Given the description of an element on the screen output the (x, y) to click on. 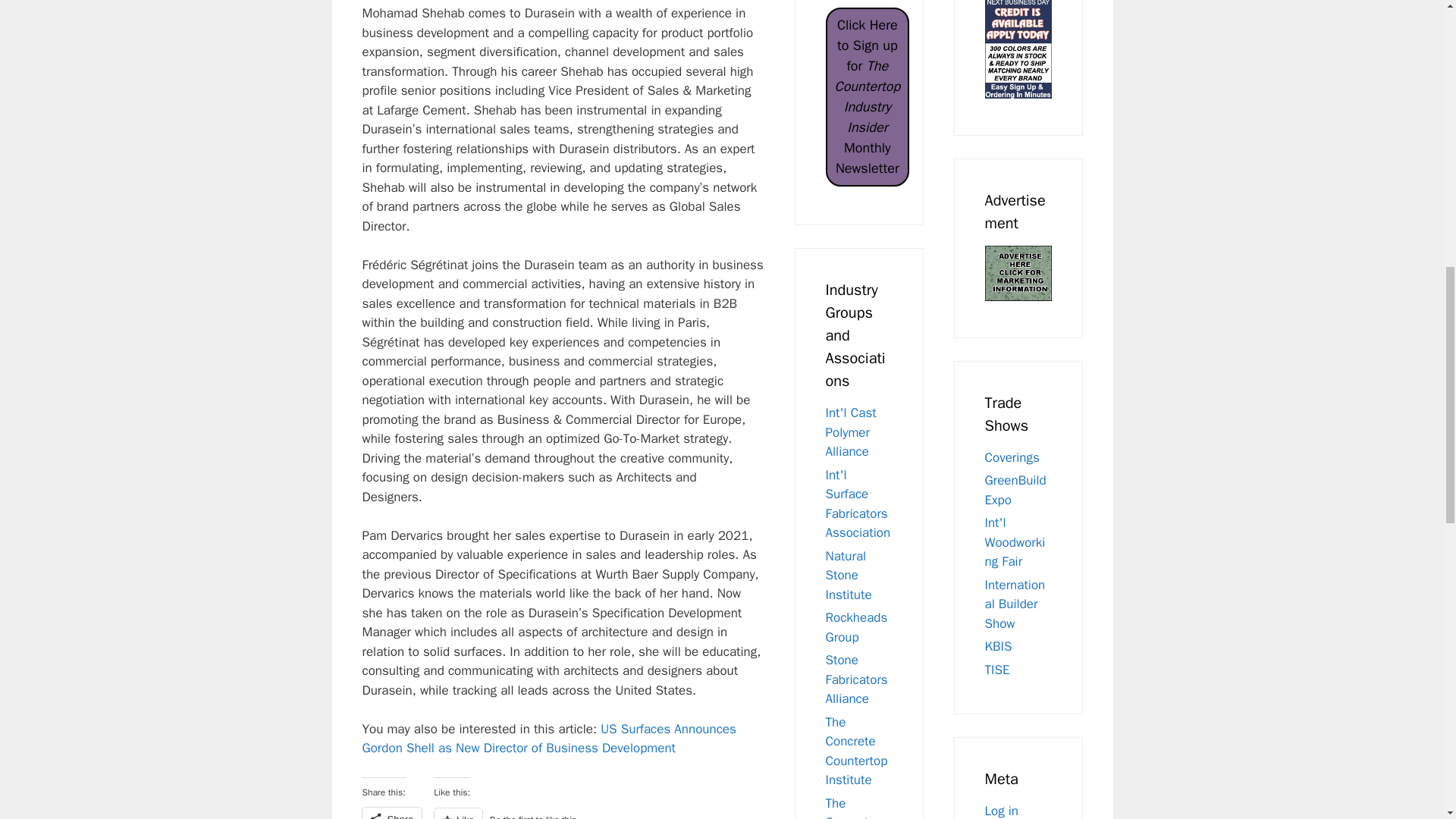
Share (392, 813)
Like or Reblog (547, 813)
